Given the description of an element on the screen output the (x, y) to click on. 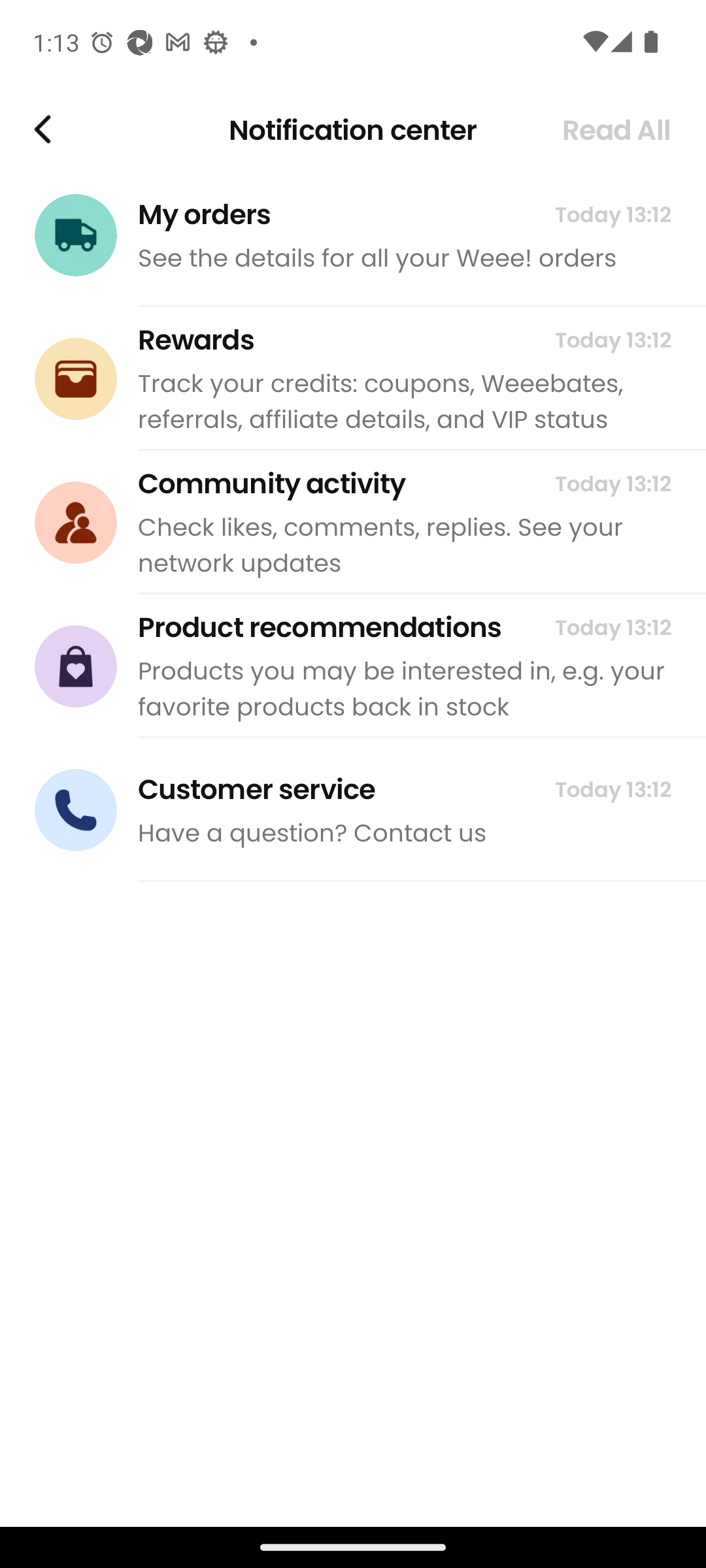
Read All (616, 129)
See the details for all your Weee! orders (404, 257)
Have a question? Contact us (404, 832)
